Given the description of an element on the screen output the (x, y) to click on. 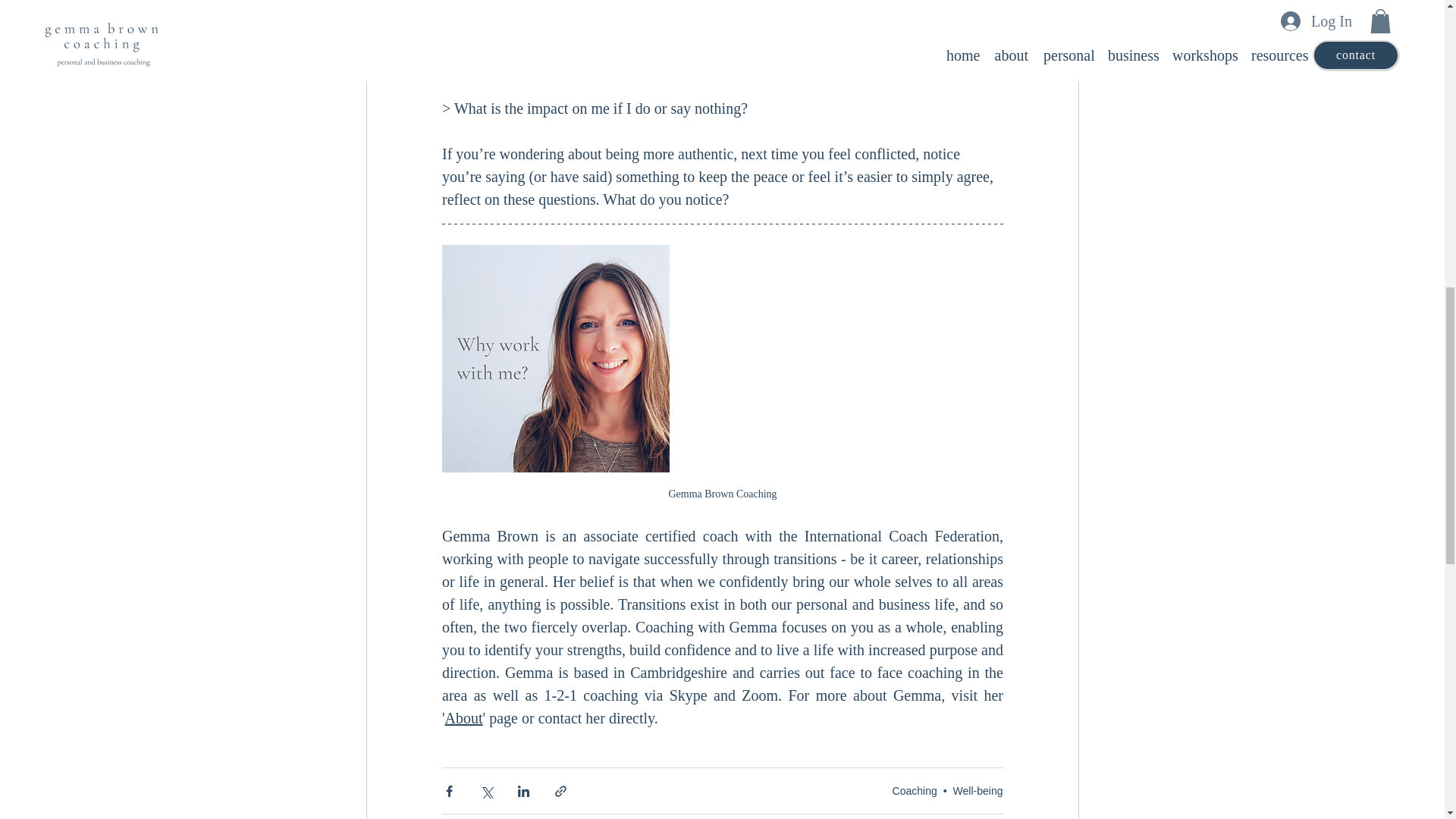
About (462, 718)
Coaching (914, 790)
Well-being (978, 790)
